Given the description of an element on the screen output the (x, y) to click on. 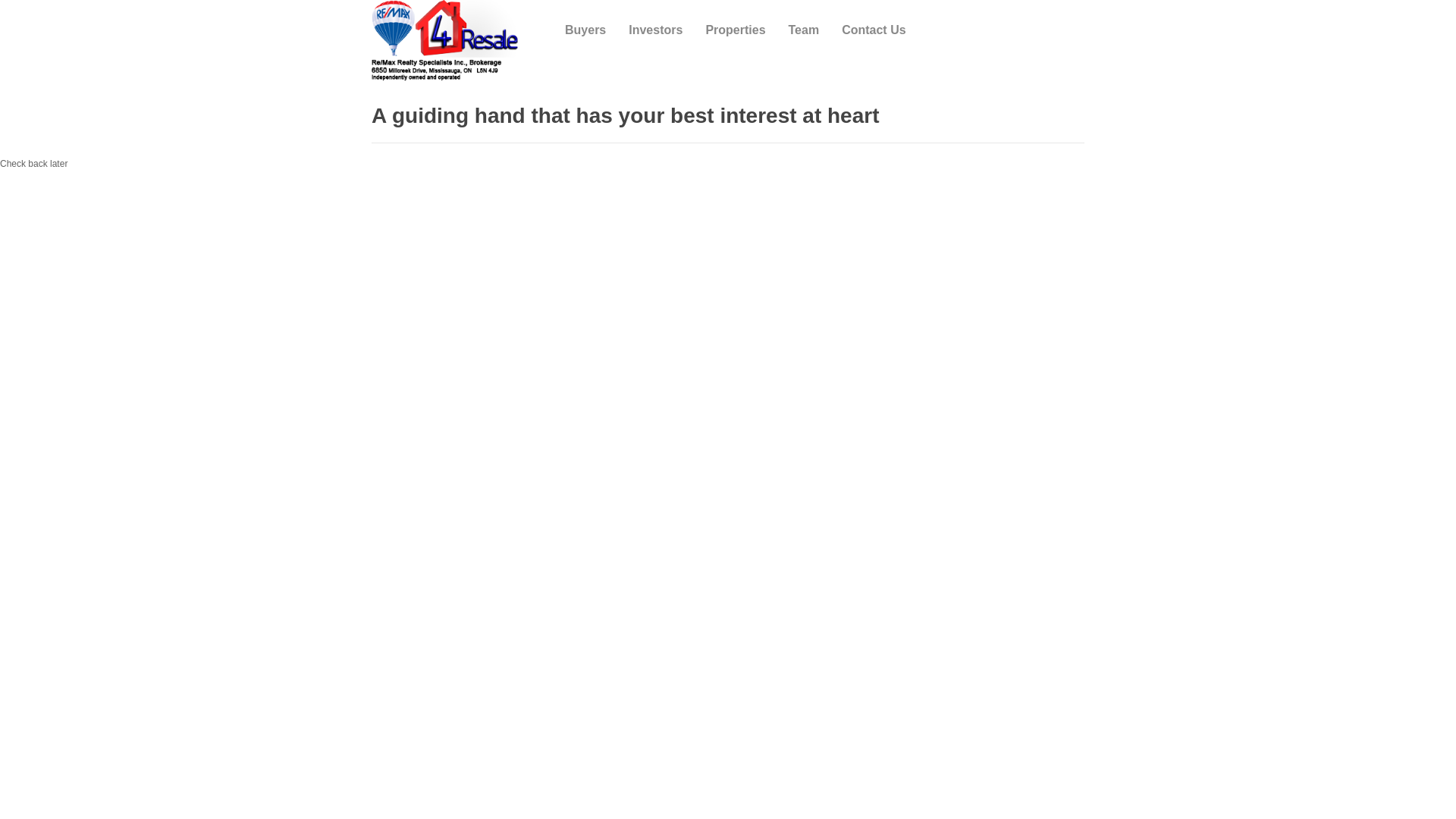
Team Element type: text (804, 30)
Buyers Element type: text (585, 30)
Investors Element type: text (655, 30)
Properties Element type: text (734, 30)
Contact Us Element type: text (873, 30)
